Given the description of an element on the screen output the (x, y) to click on. 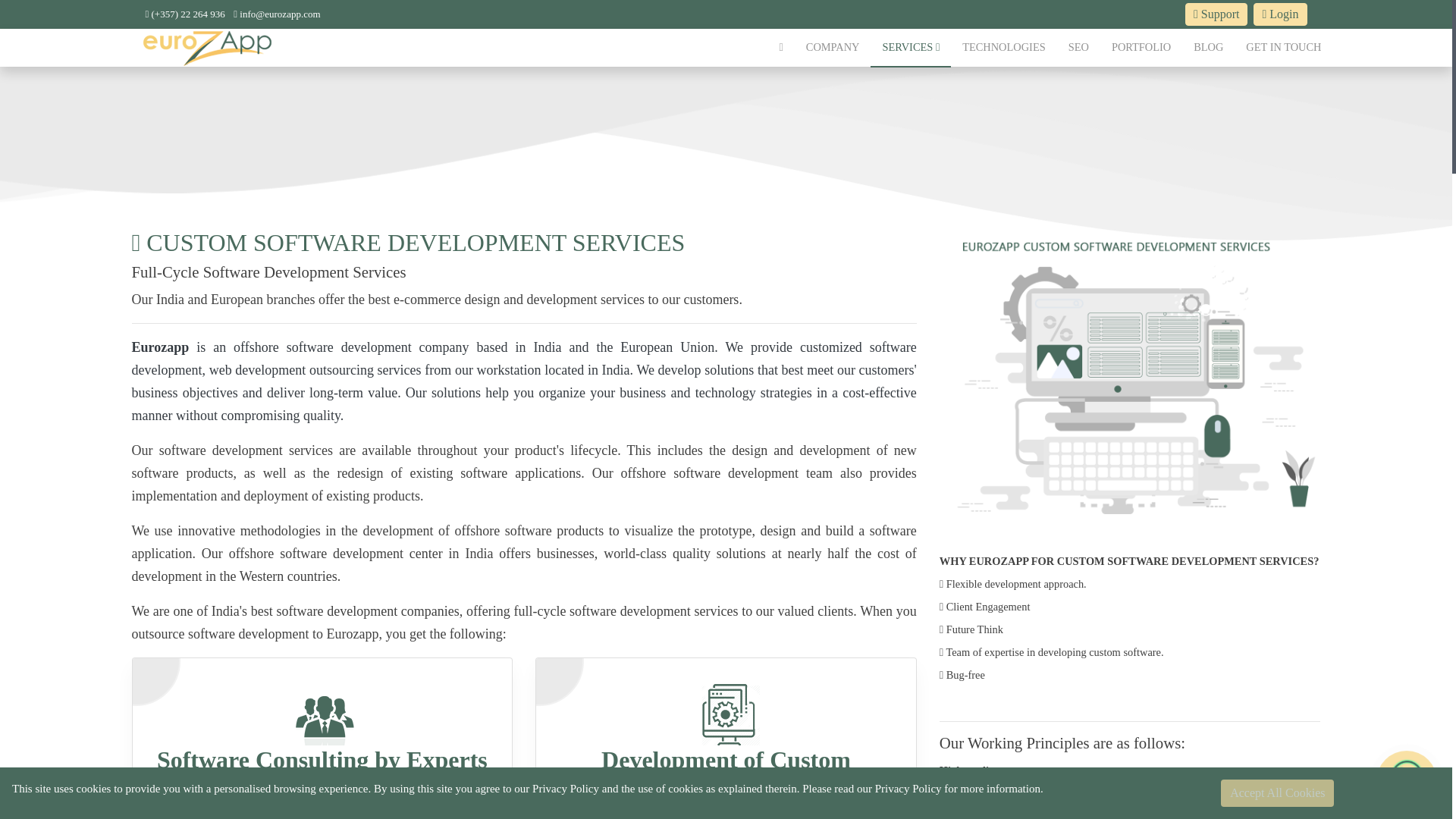
TECHNOLOGIES (1003, 46)
SEO (1078, 46)
PORTFOLIO (1141, 46)
Support (1216, 14)
COMPANY (832, 46)
BLOG (1208, 46)
GET IN TOUCH (1283, 46)
Login (1279, 14)
SERVICES (910, 47)
